Given the description of an element on the screen output the (x, y) to click on. 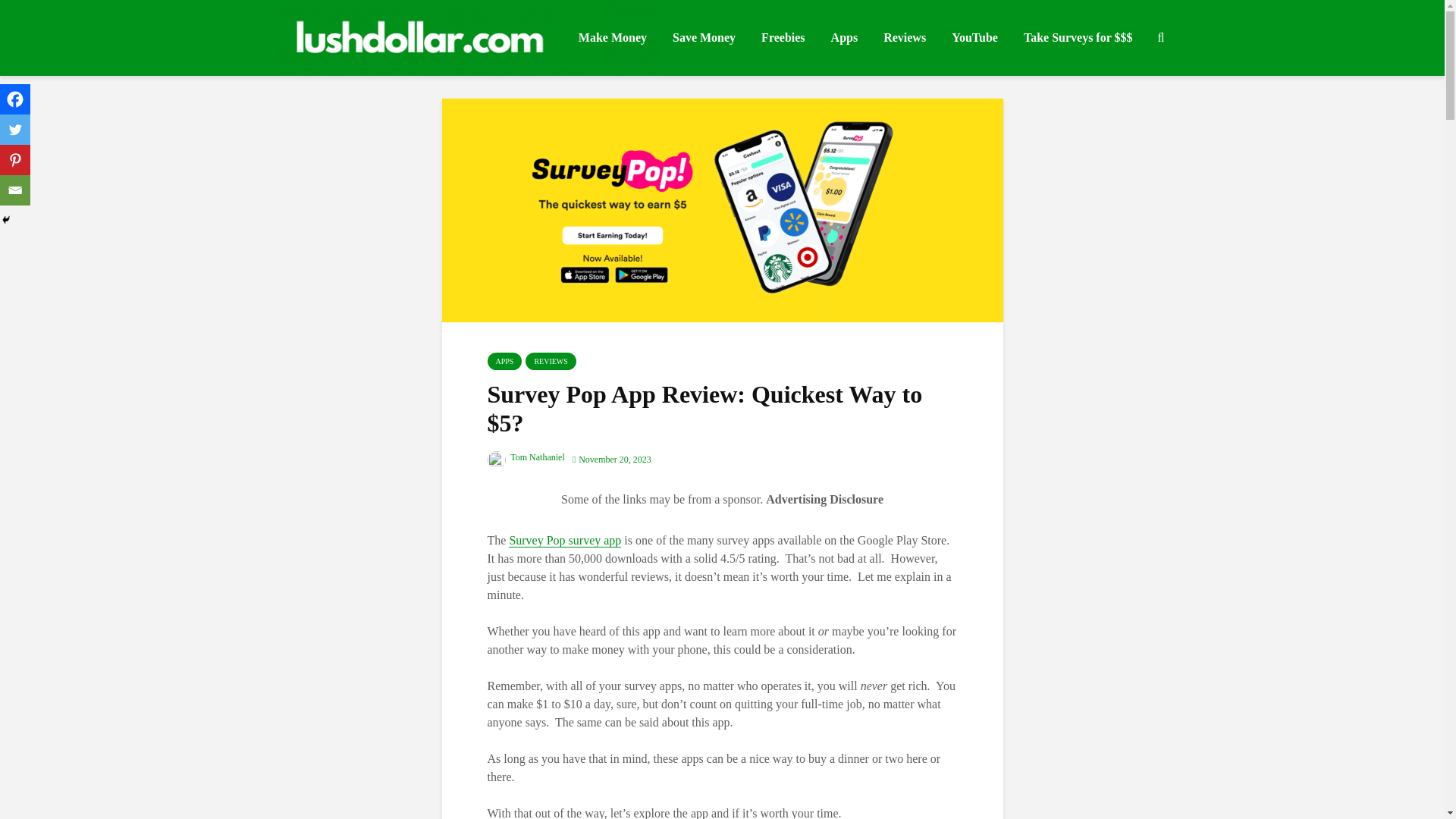
Twitter (15, 129)
Make Money (612, 37)
Reviews (904, 37)
Freebies (782, 37)
Hide (5, 219)
Pinterest (15, 159)
Save Money (703, 37)
Facebook (15, 99)
YouTube (974, 37)
Apps (844, 37)
Email (15, 190)
